Given the description of an element on the screen output the (x, y) to click on. 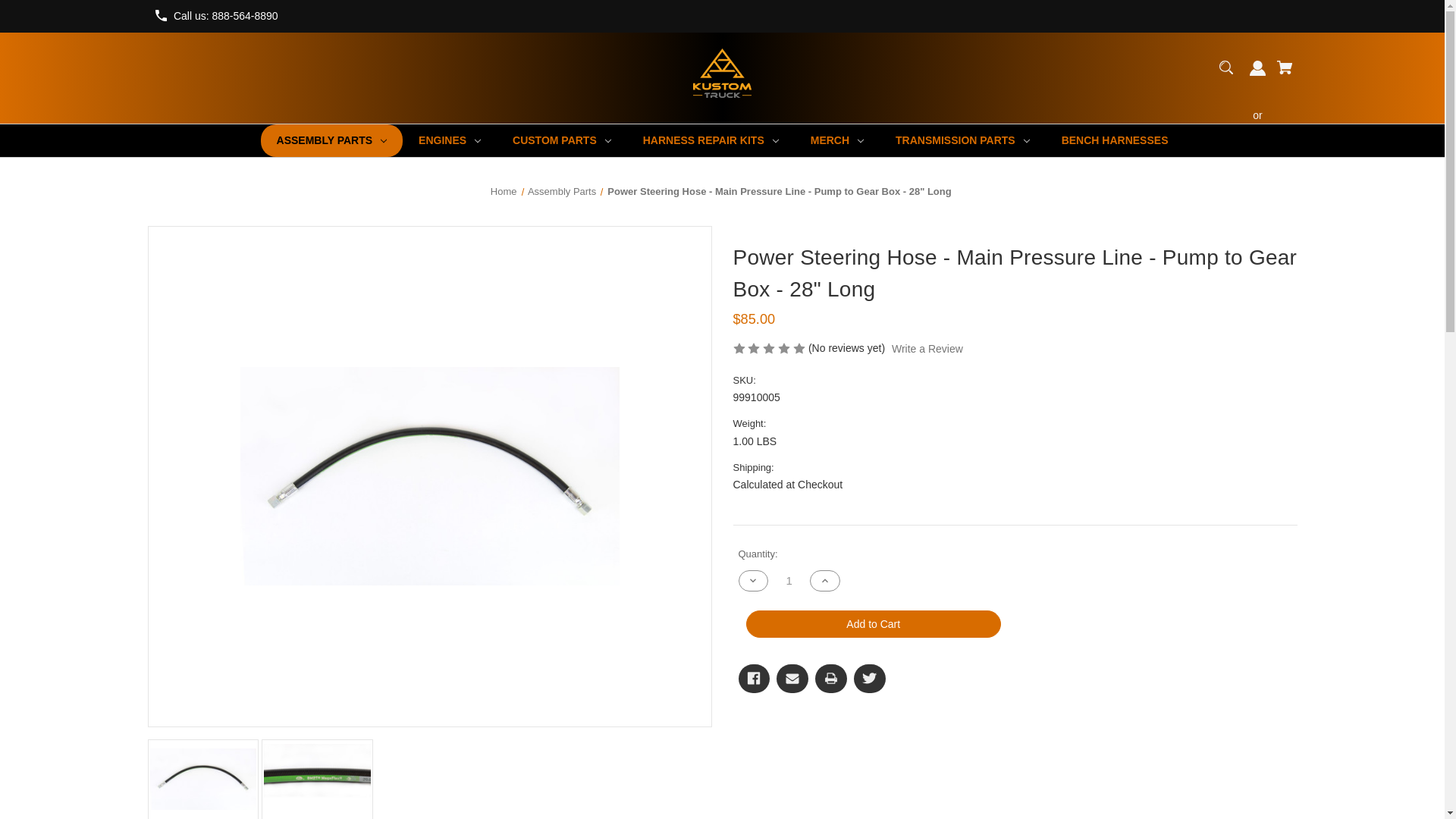
Kustom Truck Parts (722, 72)
ASSEMBLY PARTS (331, 140)
1 (788, 580)
Gates 8M2T Megaflex Hose (317, 779)
MAGNIFYING GLASS IMAGE LARGE RED CIRCLE WITH A BLACK BORDER (1226, 67)
Call us: 888-564-8890 (225, 15)
